Given the description of an element on the screen output the (x, y) to click on. 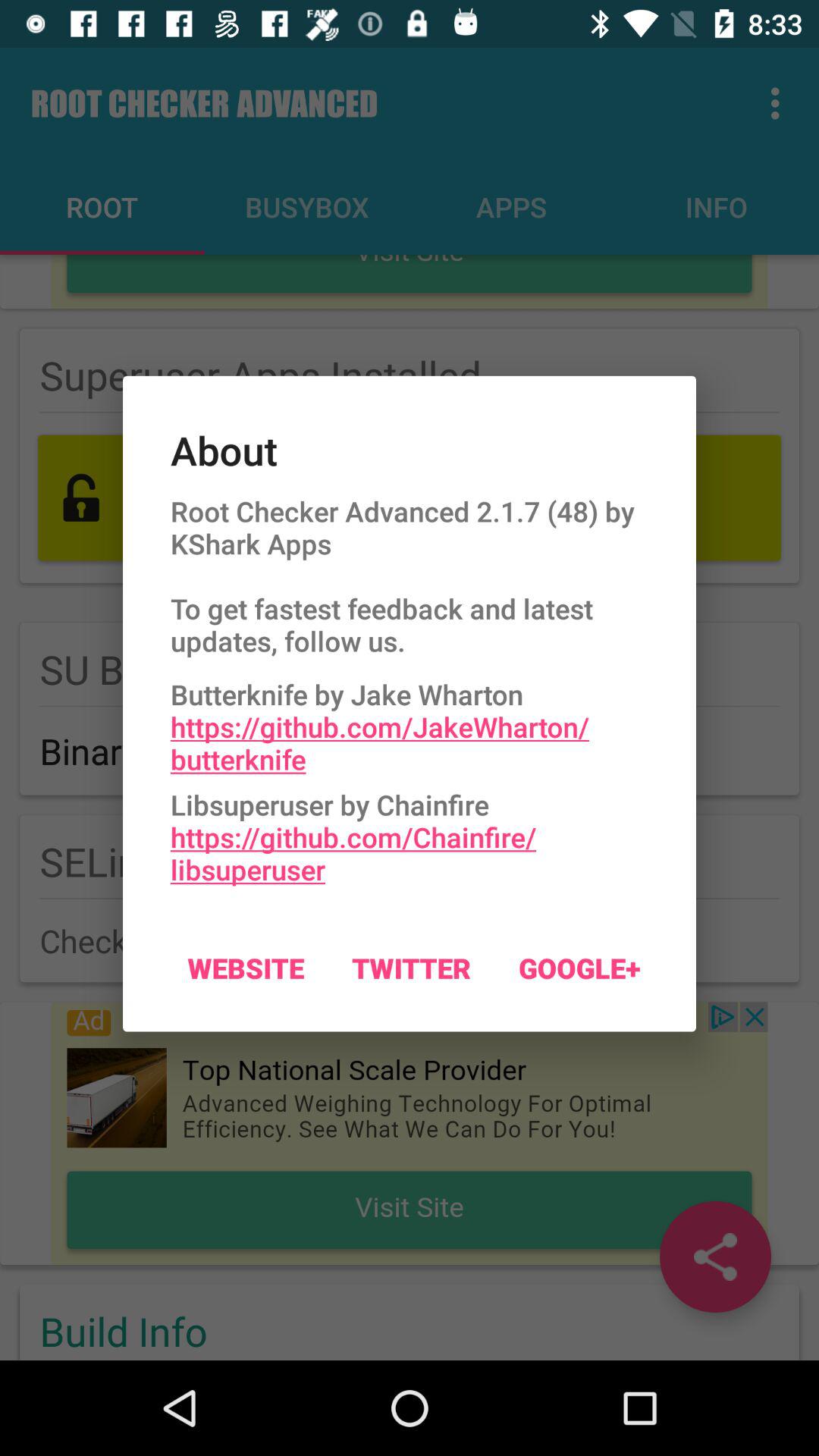
choose icon next to the twitter item (245, 967)
